Given the description of an element on the screen output the (x, y) to click on. 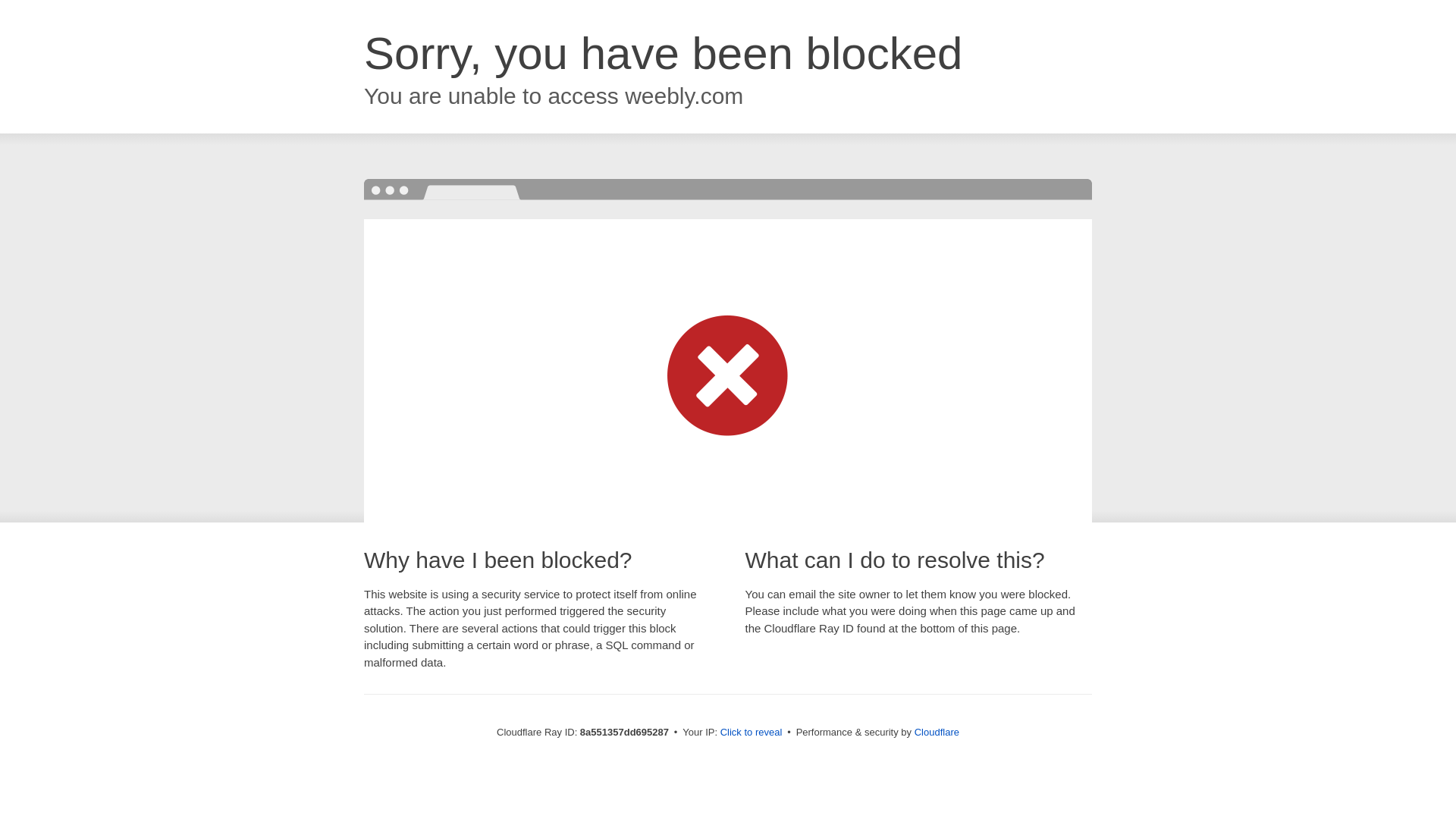
Click to reveal (751, 732)
Cloudflare (936, 731)
